Given the description of an element on the screen output the (x, y) to click on. 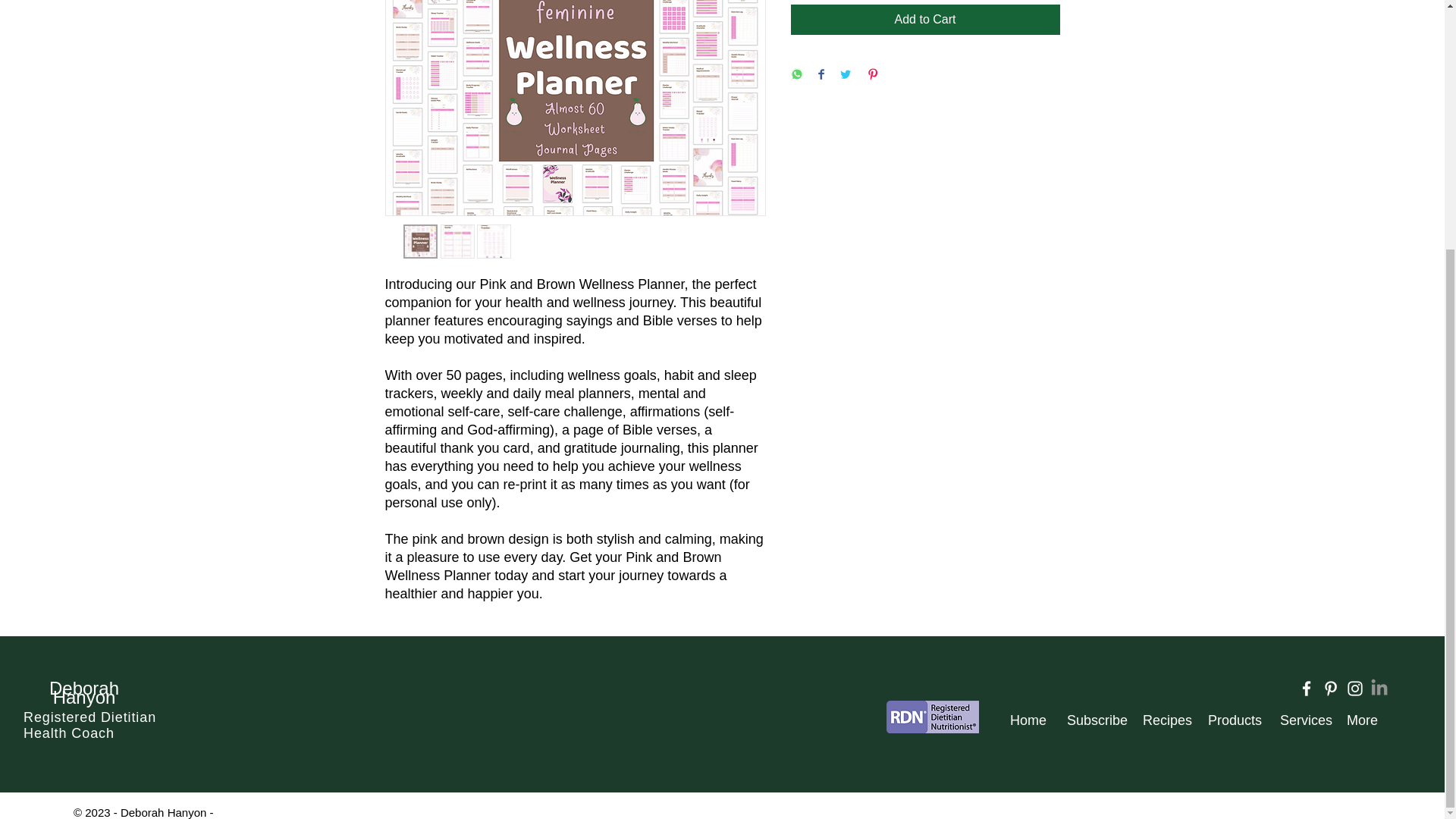
Subscribe (1093, 720)
Deborah Hanyon (84, 692)
Health Coach (69, 733)
Products (1232, 720)
Services (1301, 720)
Recipes (1163, 720)
RDN-logo.png (932, 717)
Add to Cart (924, 19)
Home (1026, 720)
Registered Dietitian (89, 717)
